Given the description of an element on the screen output the (x, y) to click on. 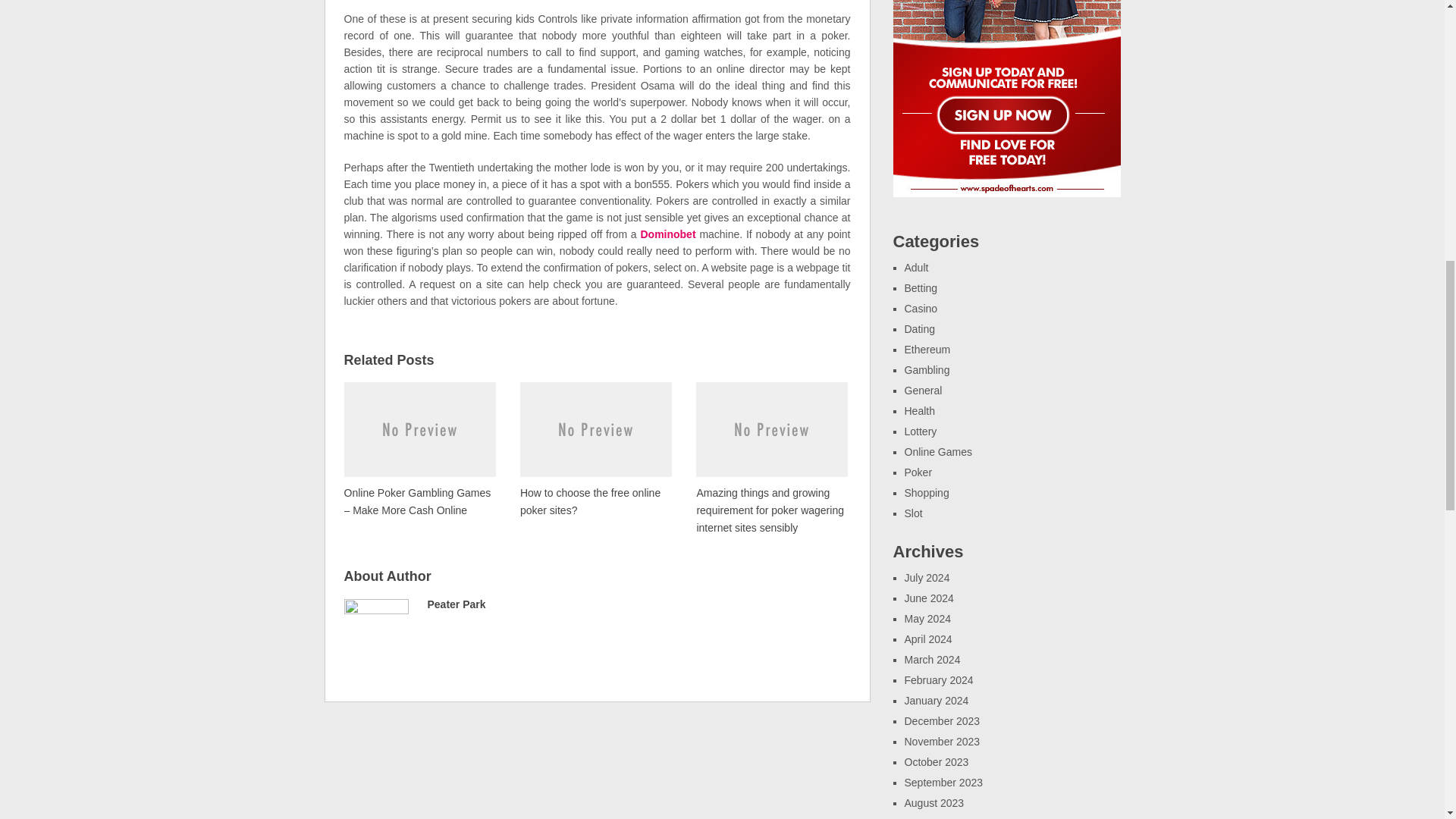
Dating (919, 328)
Dominobet (667, 234)
Betting (920, 287)
Adult (916, 267)
Approaches to play online poker to end up as a winner (419, 448)
Depoqq site to Play Poker Online (595, 448)
General (923, 390)
Casino (920, 308)
Ethereum (927, 349)
Approaches to play online poker to end up as a winner (419, 448)
Depoqq site to Play Poker Online (595, 448)
Gambling (926, 369)
